Given the description of an element on the screen output the (x, y) to click on. 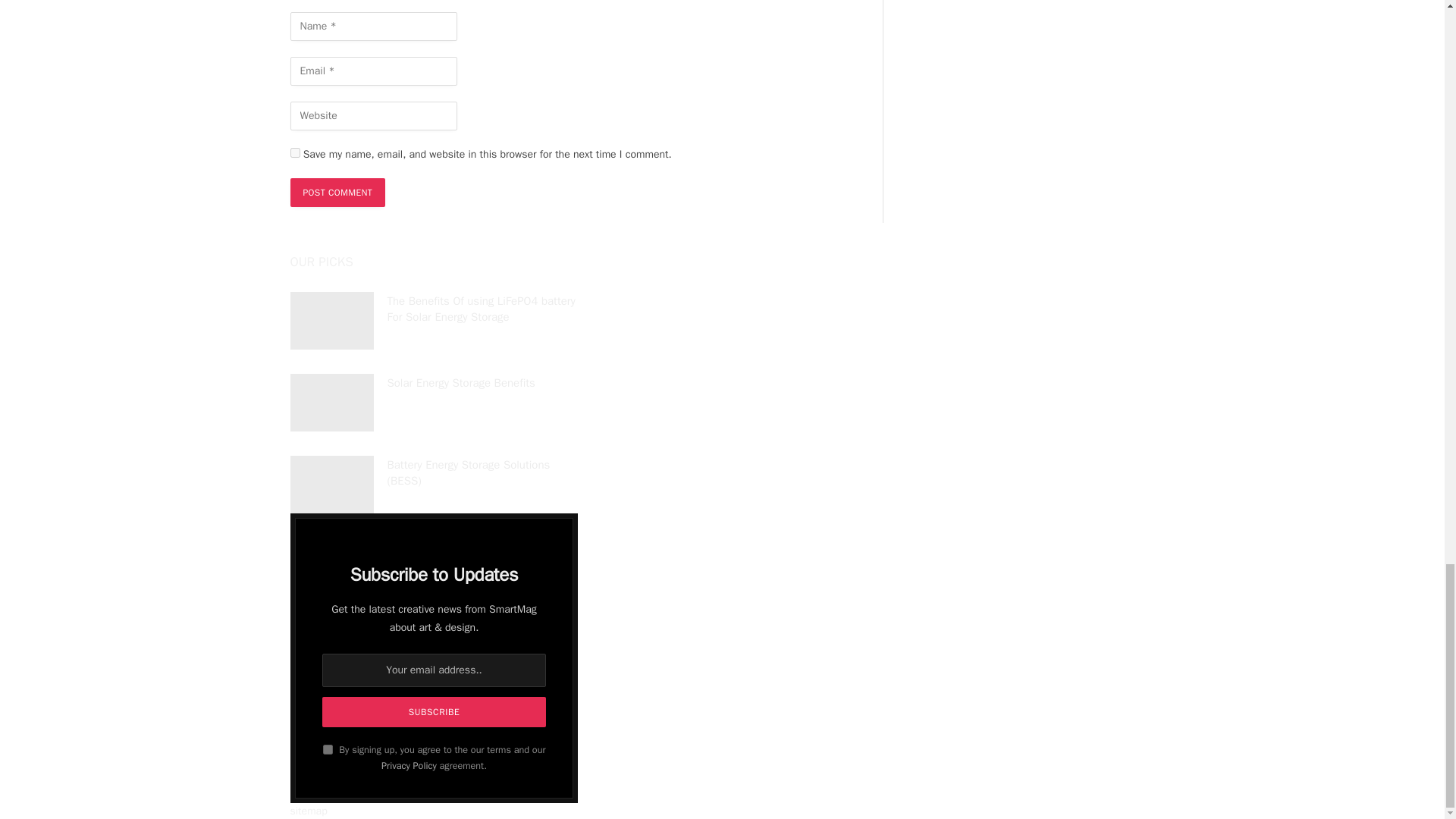
on (328, 749)
Subscribe (432, 711)
Post Comment (337, 192)
yes (294, 153)
